Given the description of an element on the screen output the (x, y) to click on. 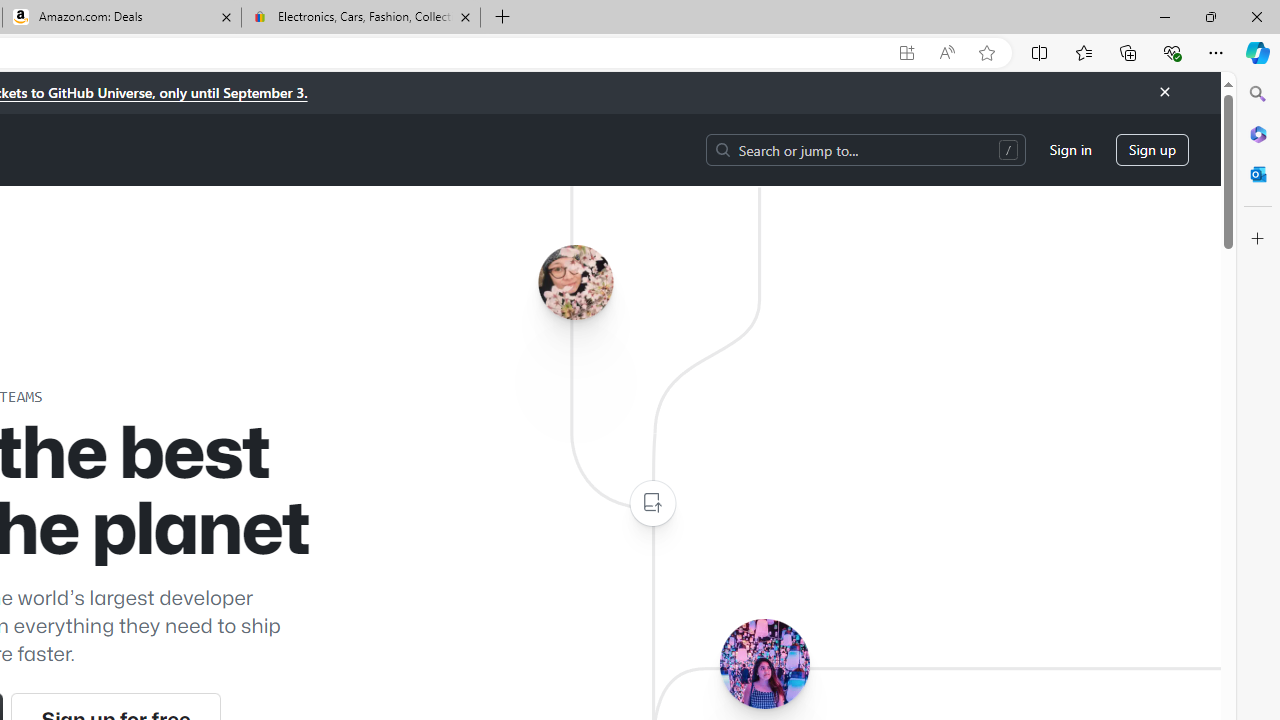
Sign in (1070, 149)
Close Outlook pane (1258, 174)
Class: color-fg-muted width-full (652, 503)
Avatar of the user teenage-witch (764, 663)
